Given the description of an element on the screen output the (x, y) to click on. 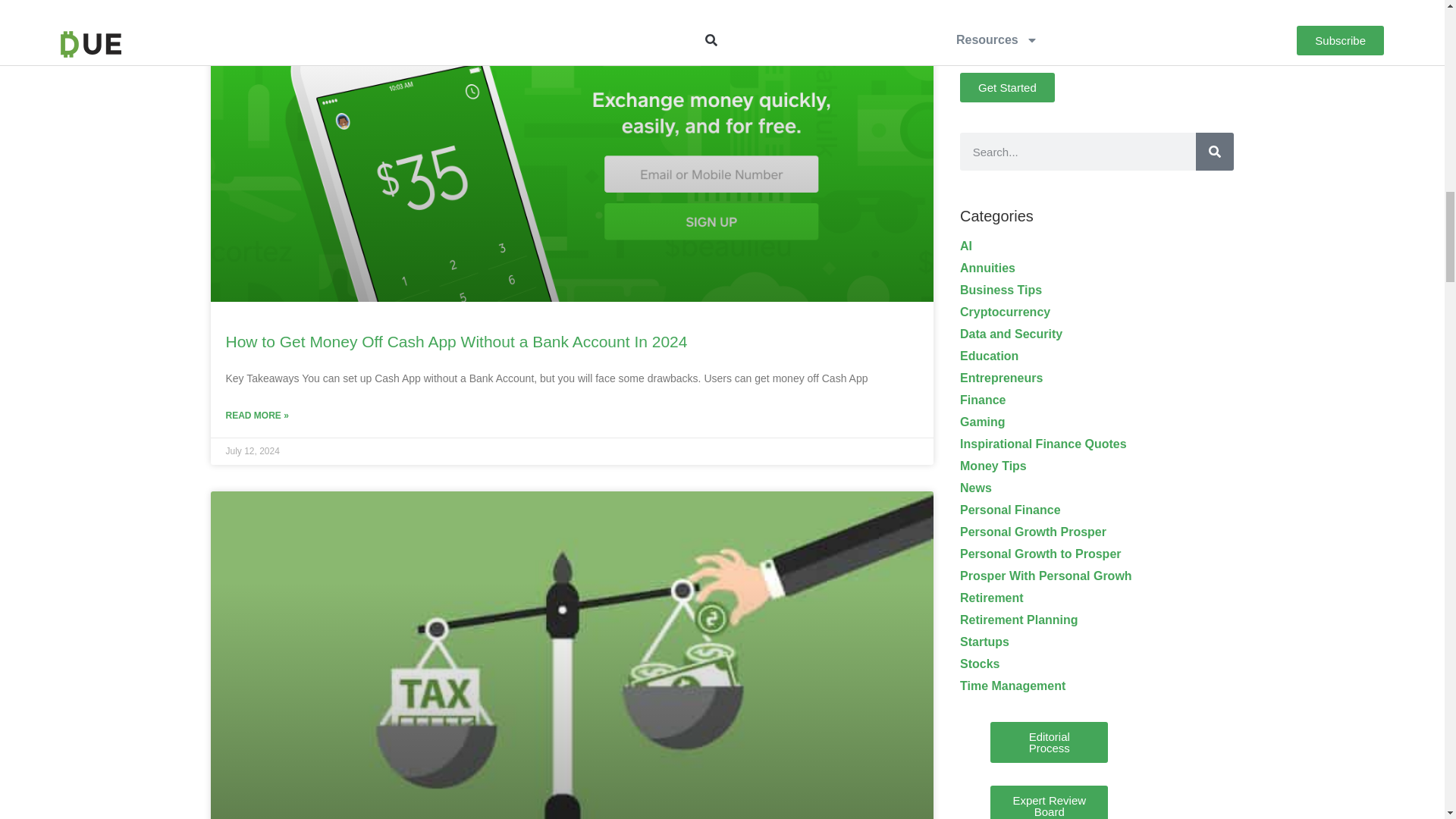
How to Get Money Off Cash App Without a Bank Account In 2024 (456, 341)
